Given the description of an element on the screen output the (x, y) to click on. 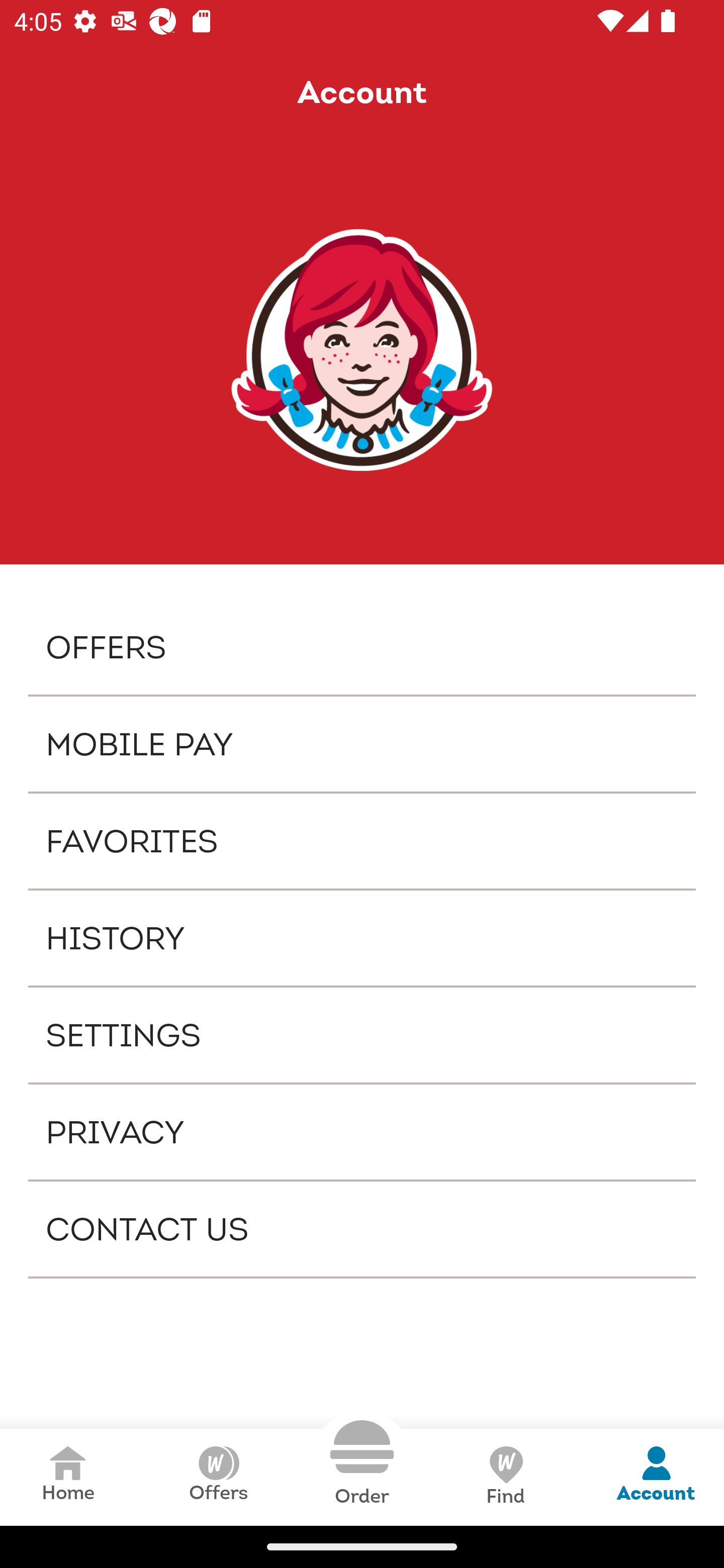
OFFERS Offers,1 of 8 (361, 646)
MOBILE PAY Mobile Pay,2 of 8 (361, 743)
FAVORITES Favorites,3 of 8 (361, 841)
HISTORY History,5 of 8 (361, 938)
SETTINGS Settings,6 of 8 (361, 1034)
PRIVACY Privacy,7 of 8 (361, 1132)
CONTACT US contact us,8 of 8 (361, 1229)
Order,3 of 5 Order (361, 1463)
Home,1 of 5 Home (68, 1476)
Rewards,2 of 5 Offers Offers (218, 1476)
Scan,4 of 5 Find Find (505, 1476)
Account,5 of 5 Account (655, 1476)
